Given the description of an element on the screen output the (x, y) to click on. 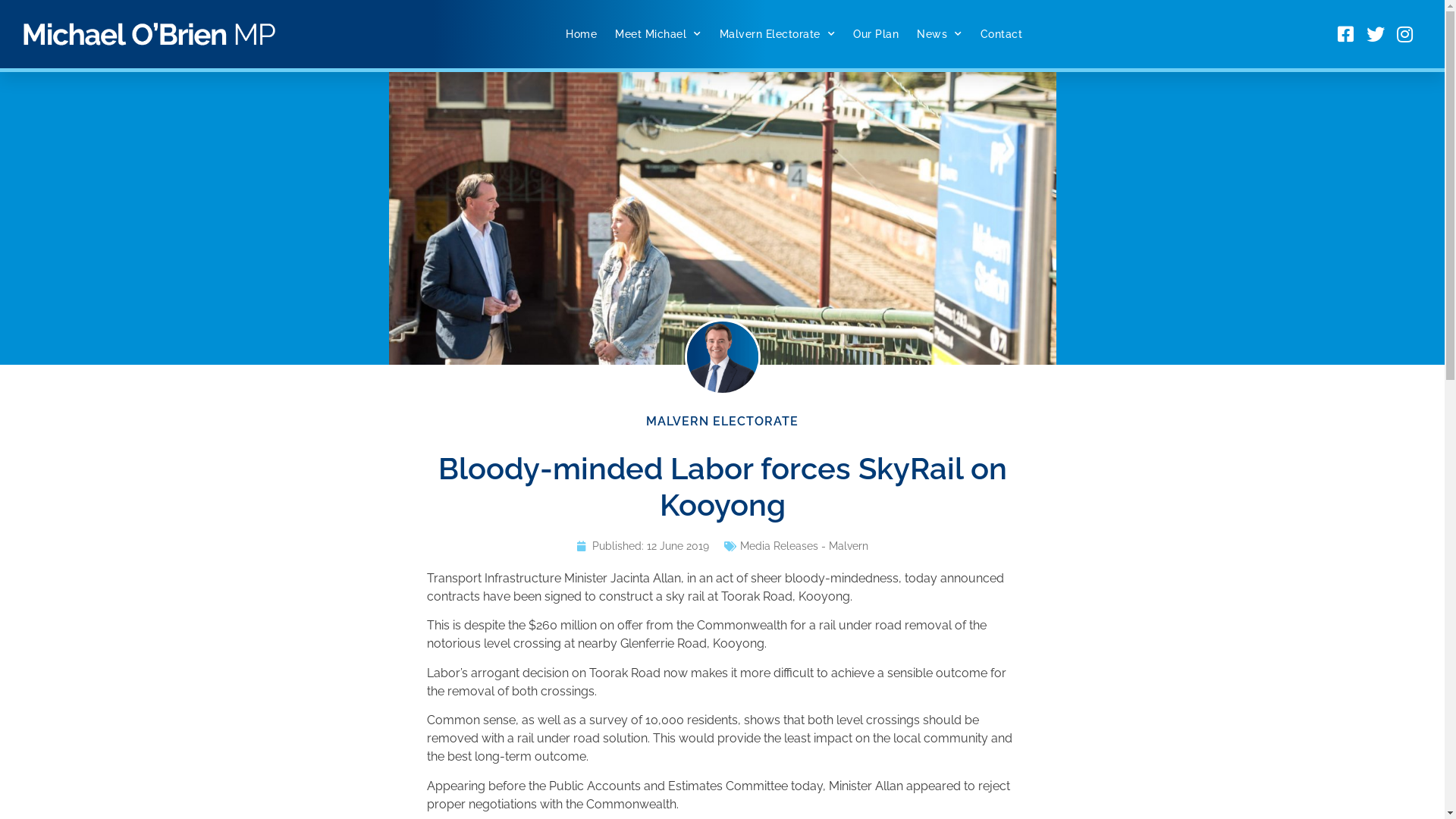
LIB_Micheal-7 Element type: hover (721, 218)
Contact Element type: text (1001, 33)
Media Releases - Malvern Element type: text (804, 545)
News Element type: text (939, 33)
Malvern Electorate Element type: text (777, 33)
Home Element type: text (580, 33)
Our Plan Element type: text (875, 33)
Meet Michael Element type: text (657, 33)
